Given the description of an element on the screen output the (x, y) to click on. 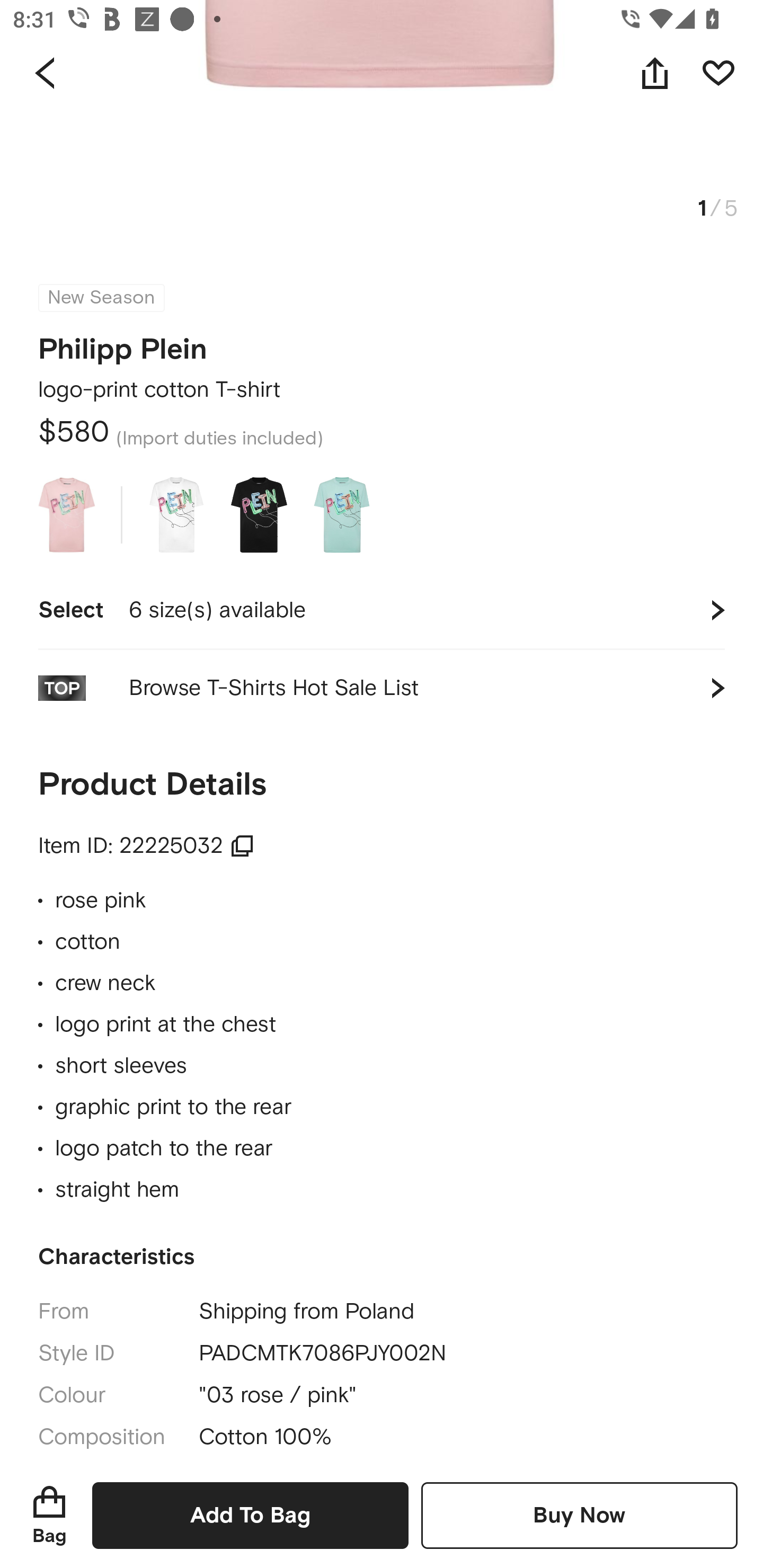
Philipp Plein (122, 344)
Select 6 size(s) available (381, 610)
Browse T-Shirts Hot Sale List (381, 687)
Item ID: 22225032 (146, 845)
Bag (49, 1515)
Add To Bag (250, 1515)
Buy Now (579, 1515)
